Given the description of an element on the screen output the (x, y) to click on. 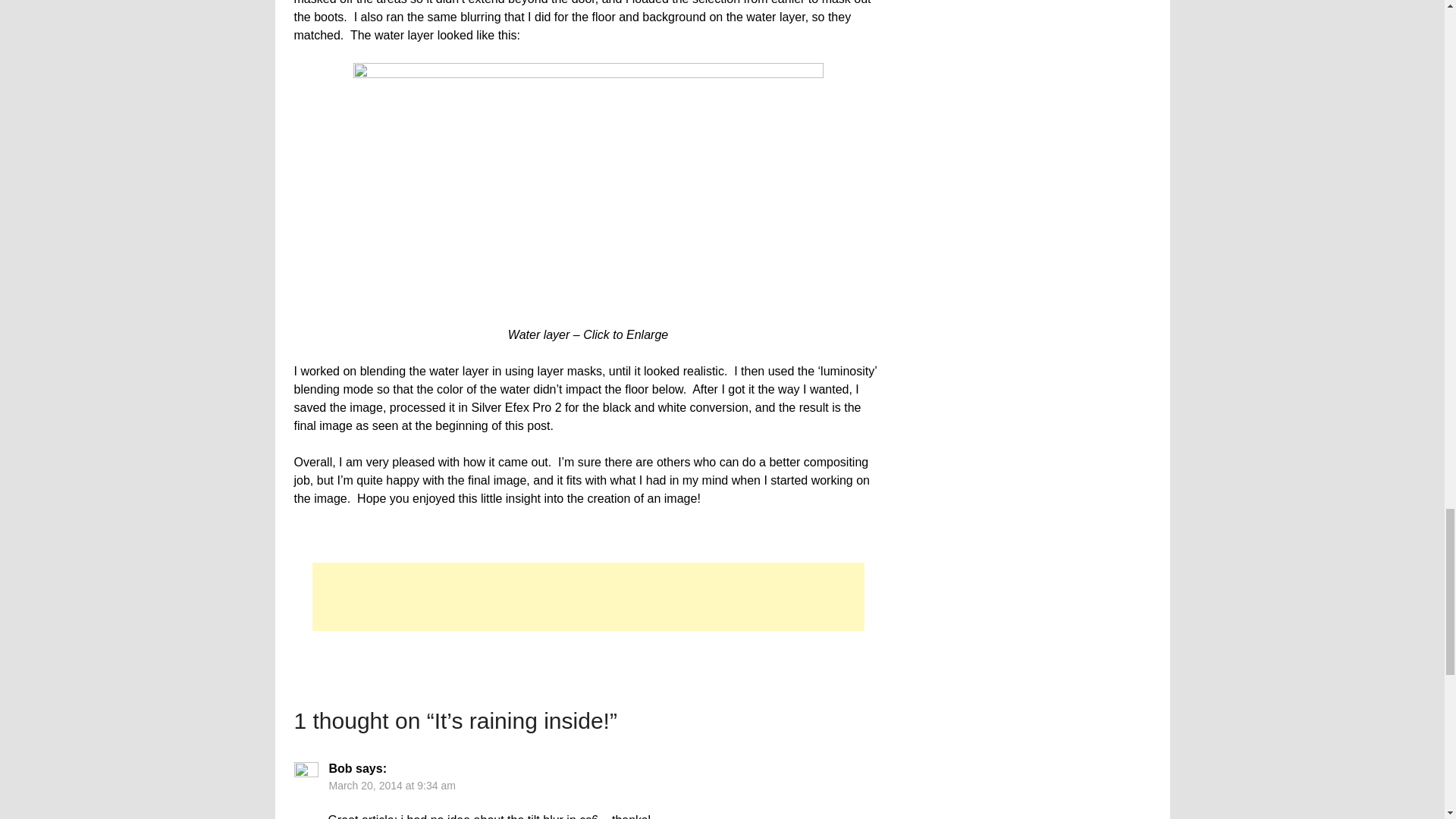
water (588, 189)
March 20, 2014 at 9:34 am (392, 785)
